Given the description of an element on the screen output the (x, y) to click on. 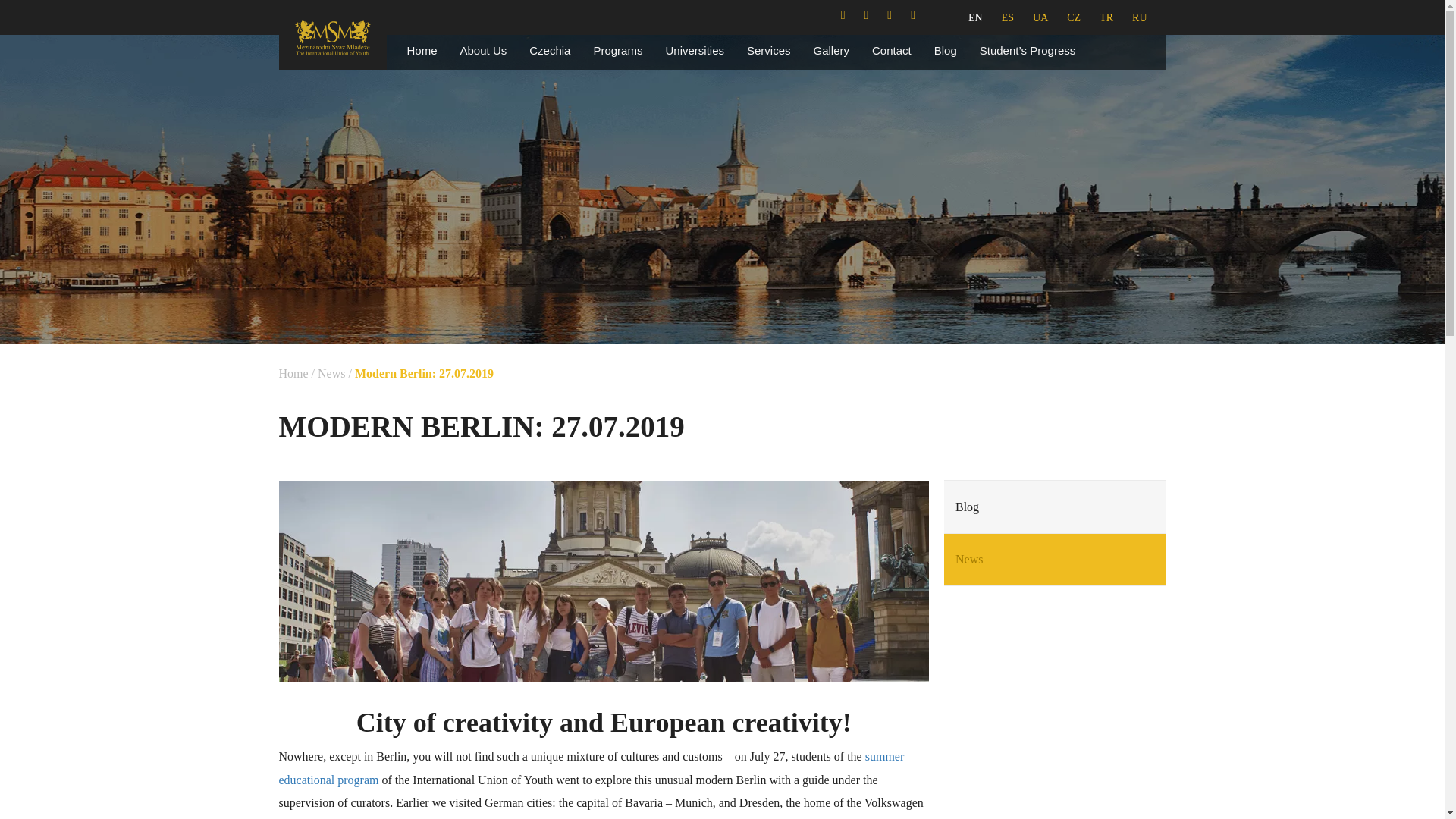
RU (1139, 17)
About Us (483, 50)
Home (422, 50)
Programs (616, 50)
CZ (1073, 17)
TR (1106, 17)
ES (1007, 17)
Modern Berlin: 27.07.2019 (424, 373)
Home (293, 373)
EN (975, 17)
